Given the description of an element on the screen output the (x, y) to click on. 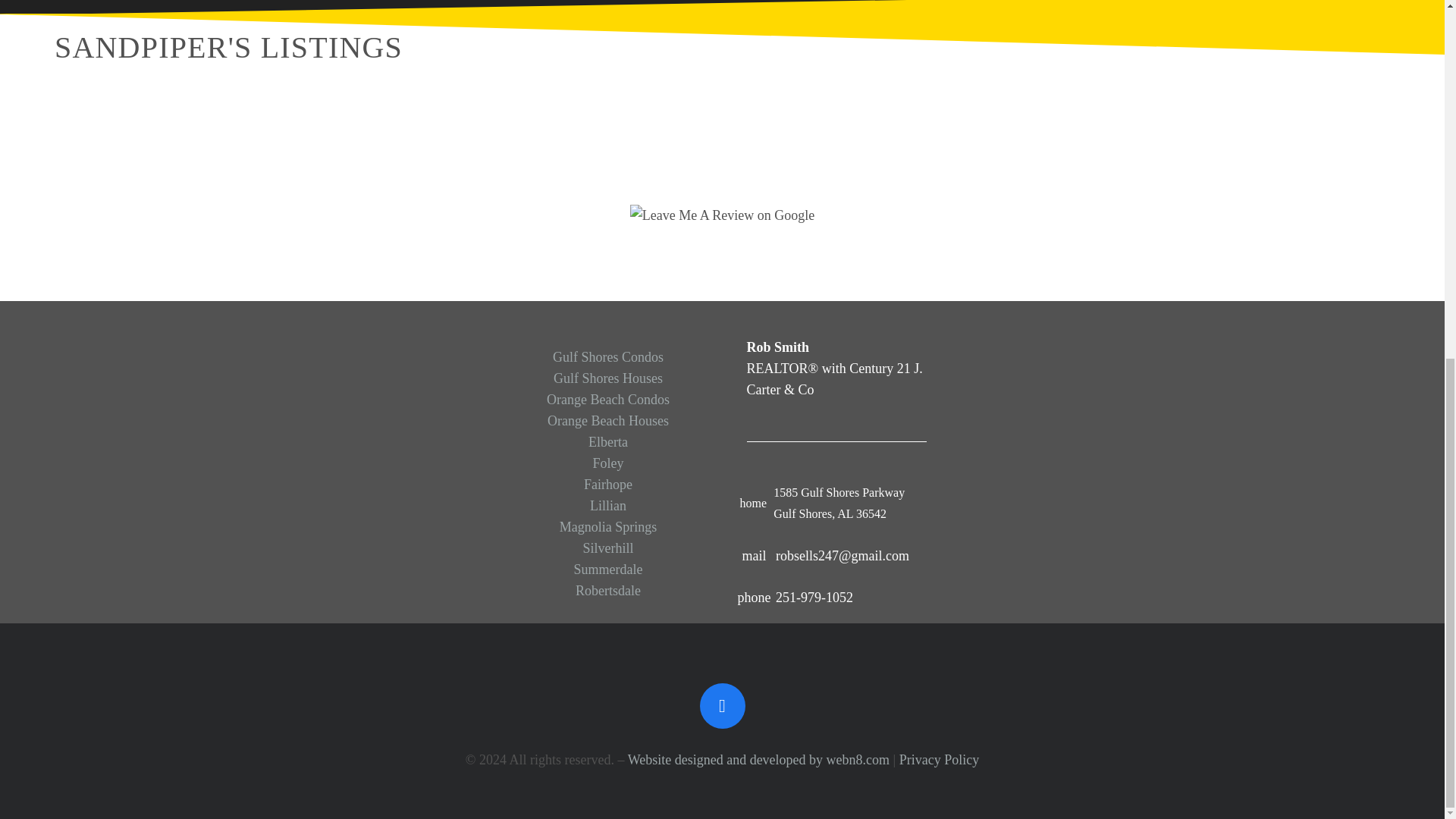
251-979-1052 (814, 597)
251-979-1052 (759, 597)
Leave Me a Review on Google (721, 215)
